Given the description of an element on the screen output the (x, y) to click on. 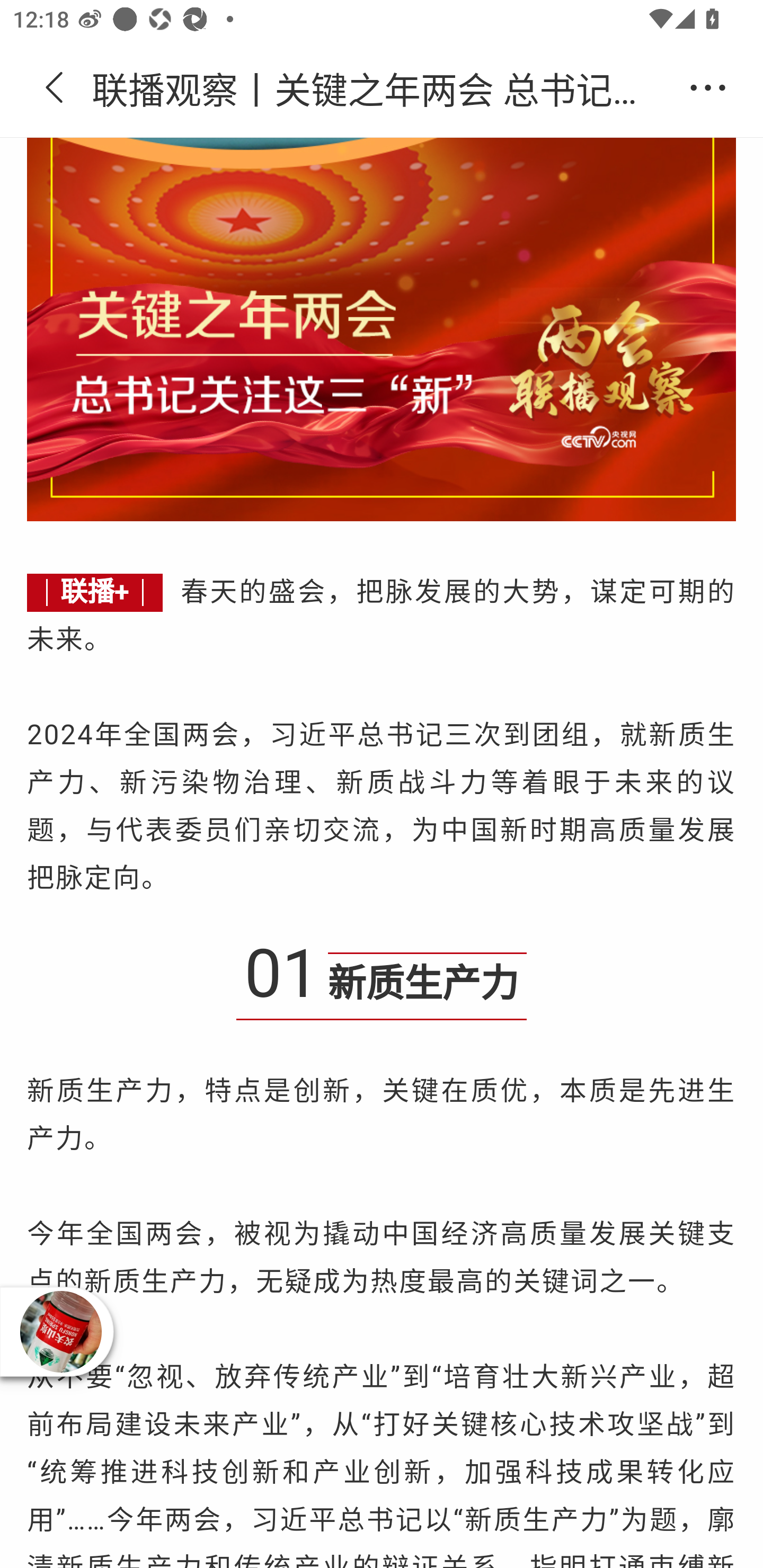
联播观察丨关键之年两会 总书记关注这三“新” (381, 87)
 返回 (54, 87)
 更多 (707, 87)
播放器 (60, 1331)
